Given the description of an element on the screen output the (x, y) to click on. 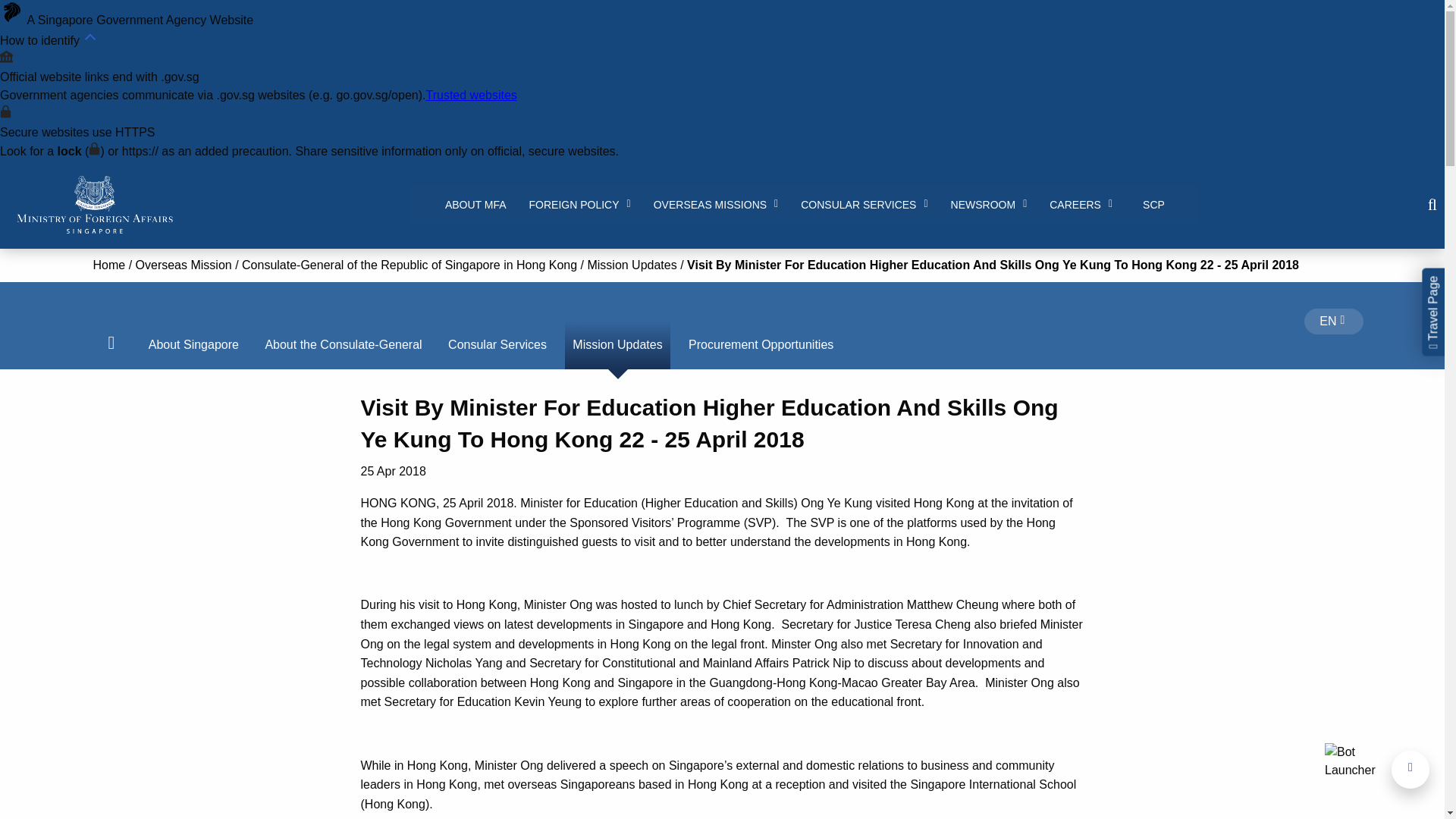
ABOUT MFA (475, 204)
OVERSEAS MISSIONS (716, 204)
Ministry of Foreign Affairs Singapore (94, 204)
NEWSROOM (989, 204)
FOREIGN POLICY (580, 204)
CONSULAR SERVICES (864, 204)
CAREERS (1081, 204)
Back to top of page (1410, 769)
